Given the description of an element on the screen output the (x, y) to click on. 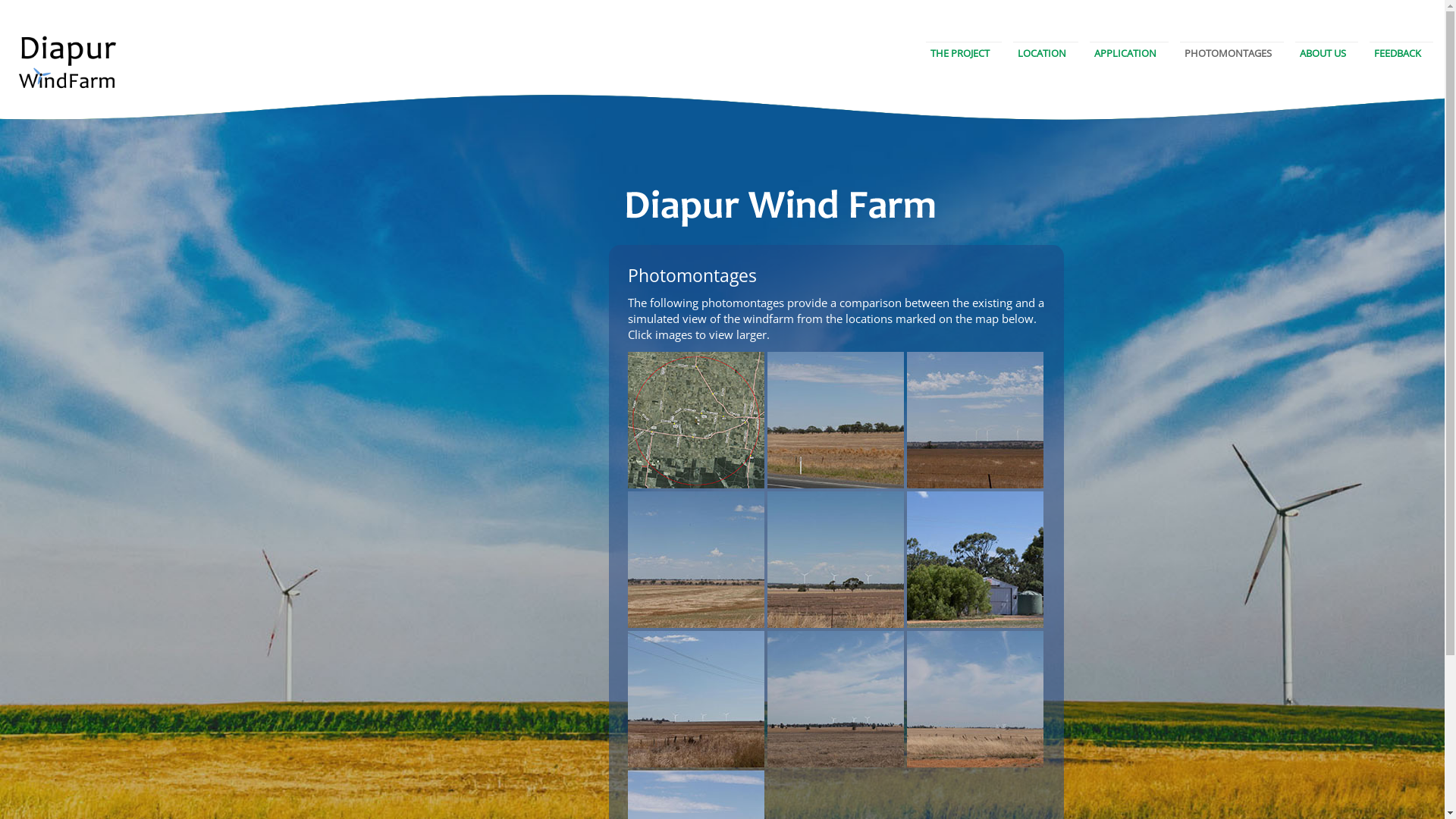
ABOUT US Element type: text (1322, 53)
LOCATION Element type: text (1041, 53)
FEEDBACK Element type: text (1397, 53)
PHOTOMONTAGES Element type: text (1227, 53)
THE PROJECT Element type: text (959, 53)
APPLICATION Element type: text (1125, 53)
